Given the description of an element on the screen output the (x, y) to click on. 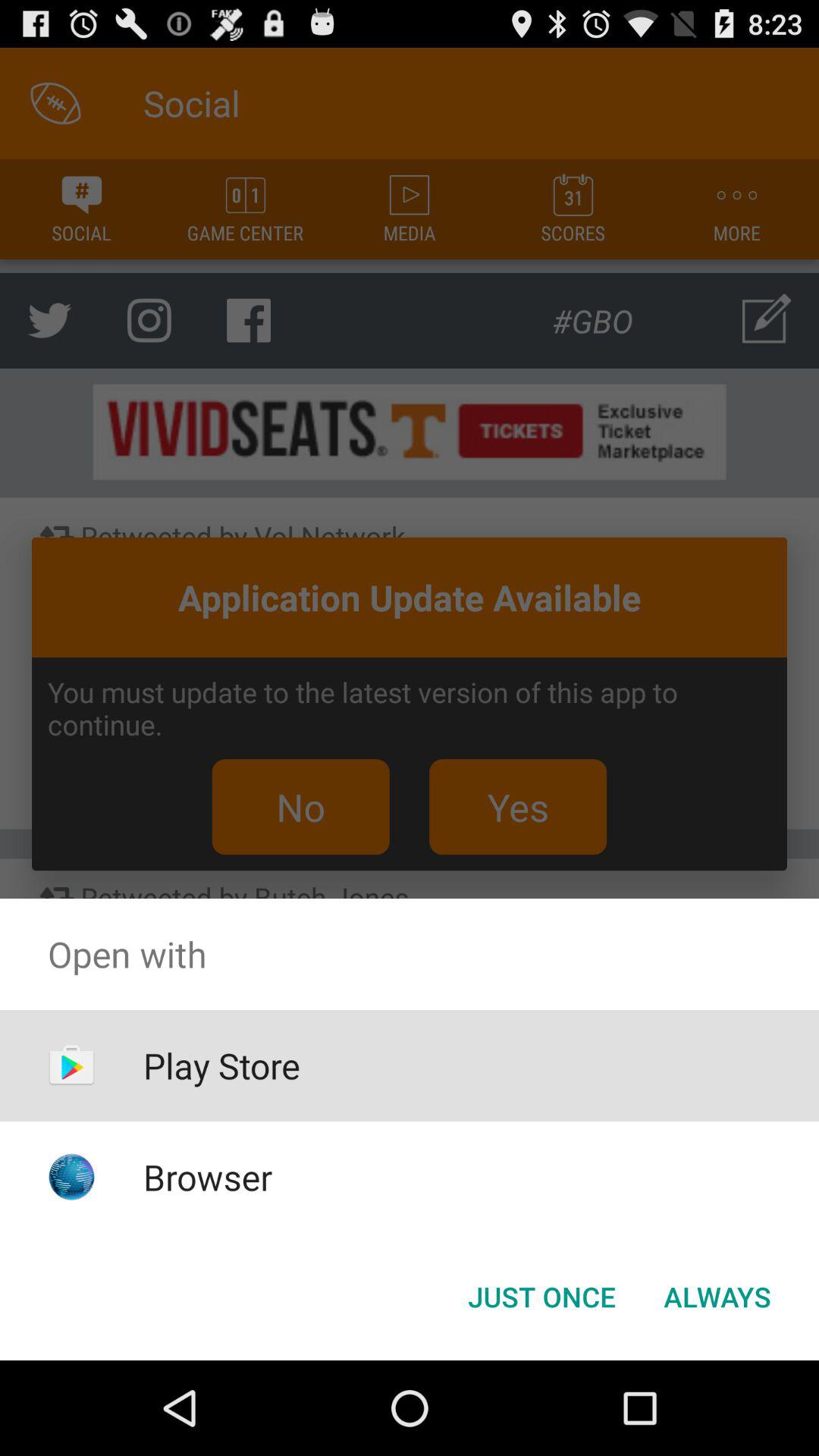
choose just once (541, 1296)
